Given the description of an element on the screen output the (x, y) to click on. 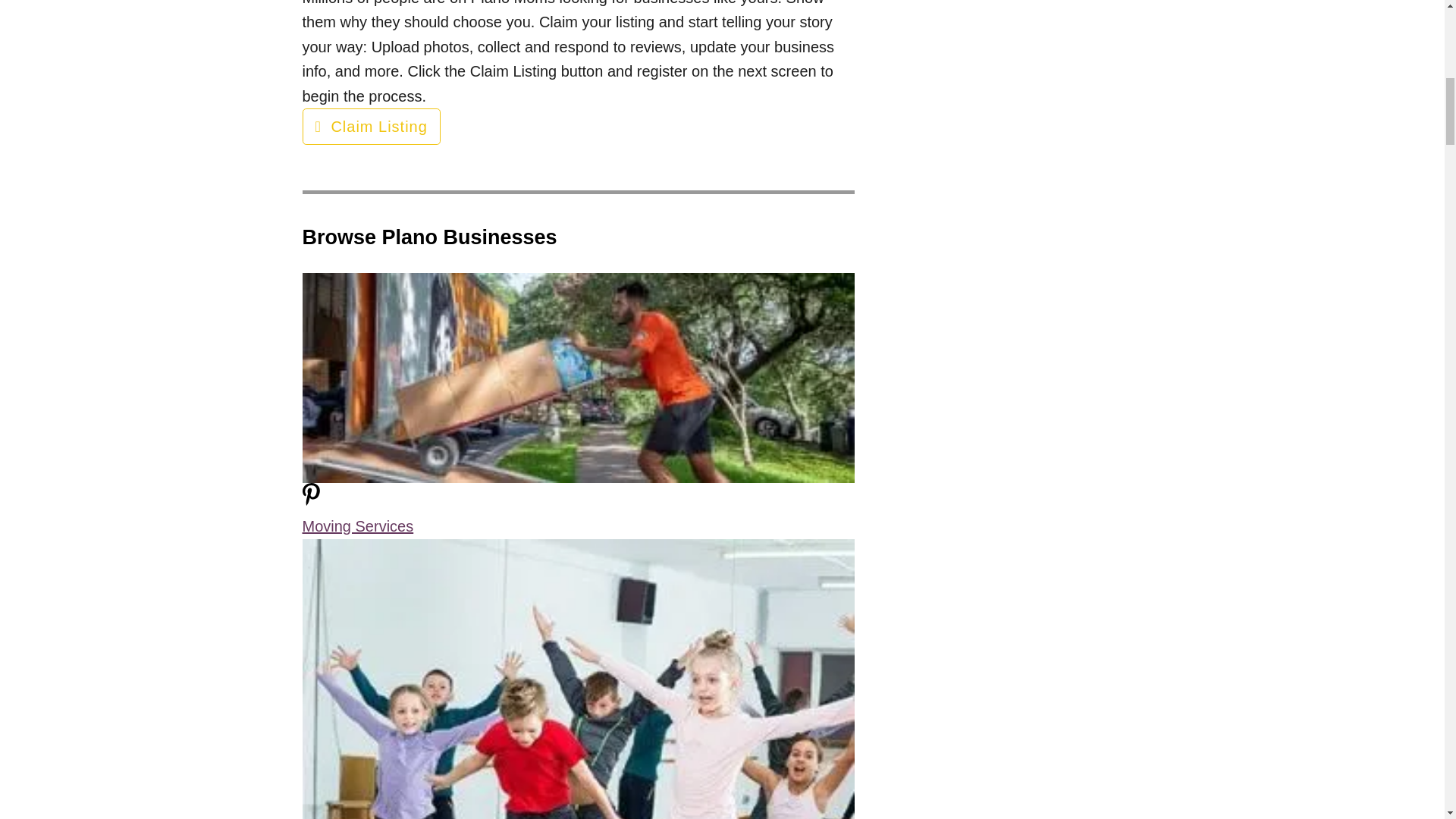
Moving Services (357, 525)
Einstein Moving Company (577, 377)
